Given the description of an element on the screen output the (x, y) to click on. 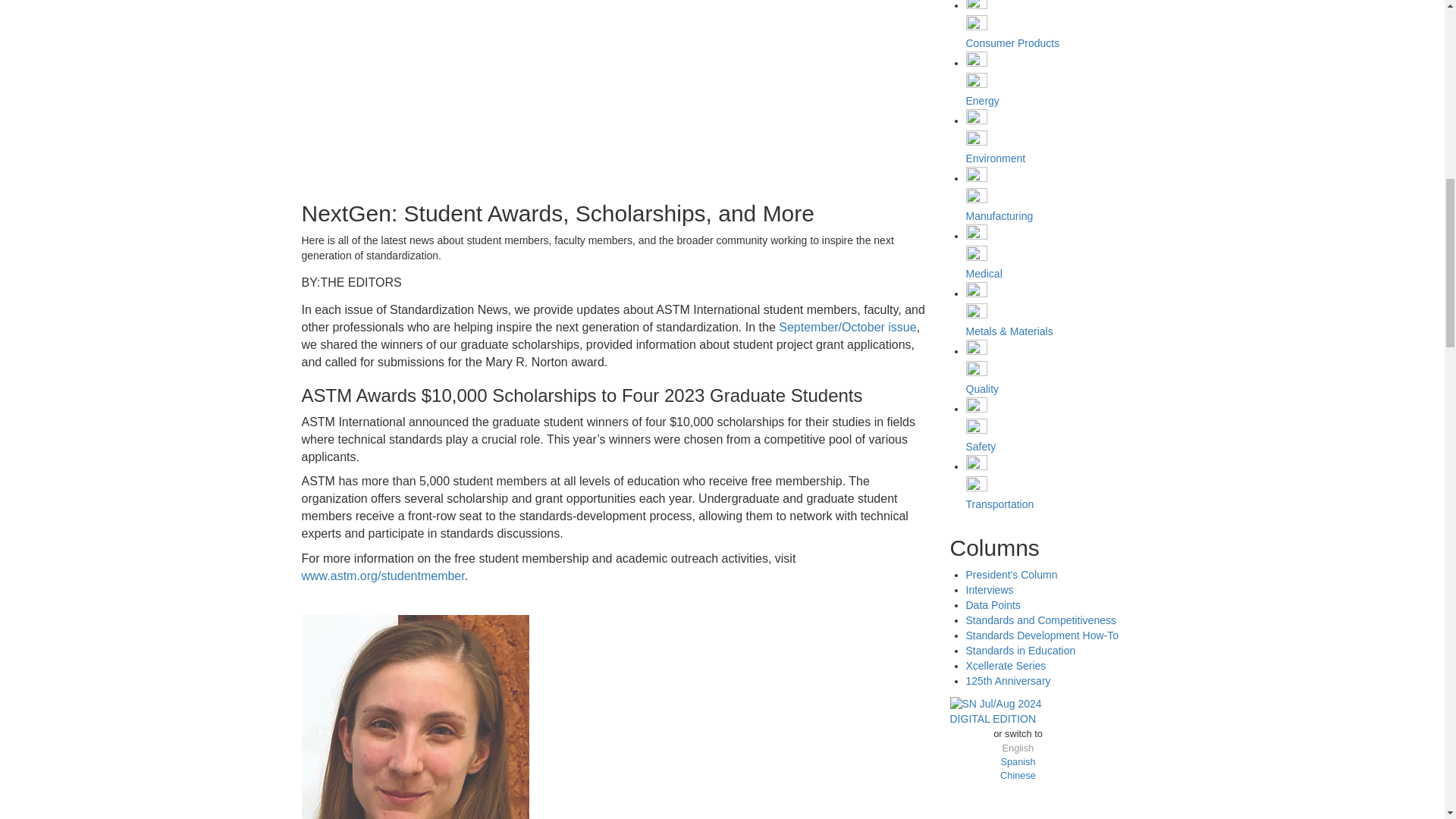
Consumer Products (1012, 42)
Quality (982, 388)
Environment (996, 158)
Medical (984, 273)
Data Points (993, 604)
125th Anniversary (1008, 680)
Manufacturing (999, 215)
Safety (980, 446)
Standards in Education (1020, 650)
President's Column (1012, 574)
